Given the description of an element on the screen output the (x, y) to click on. 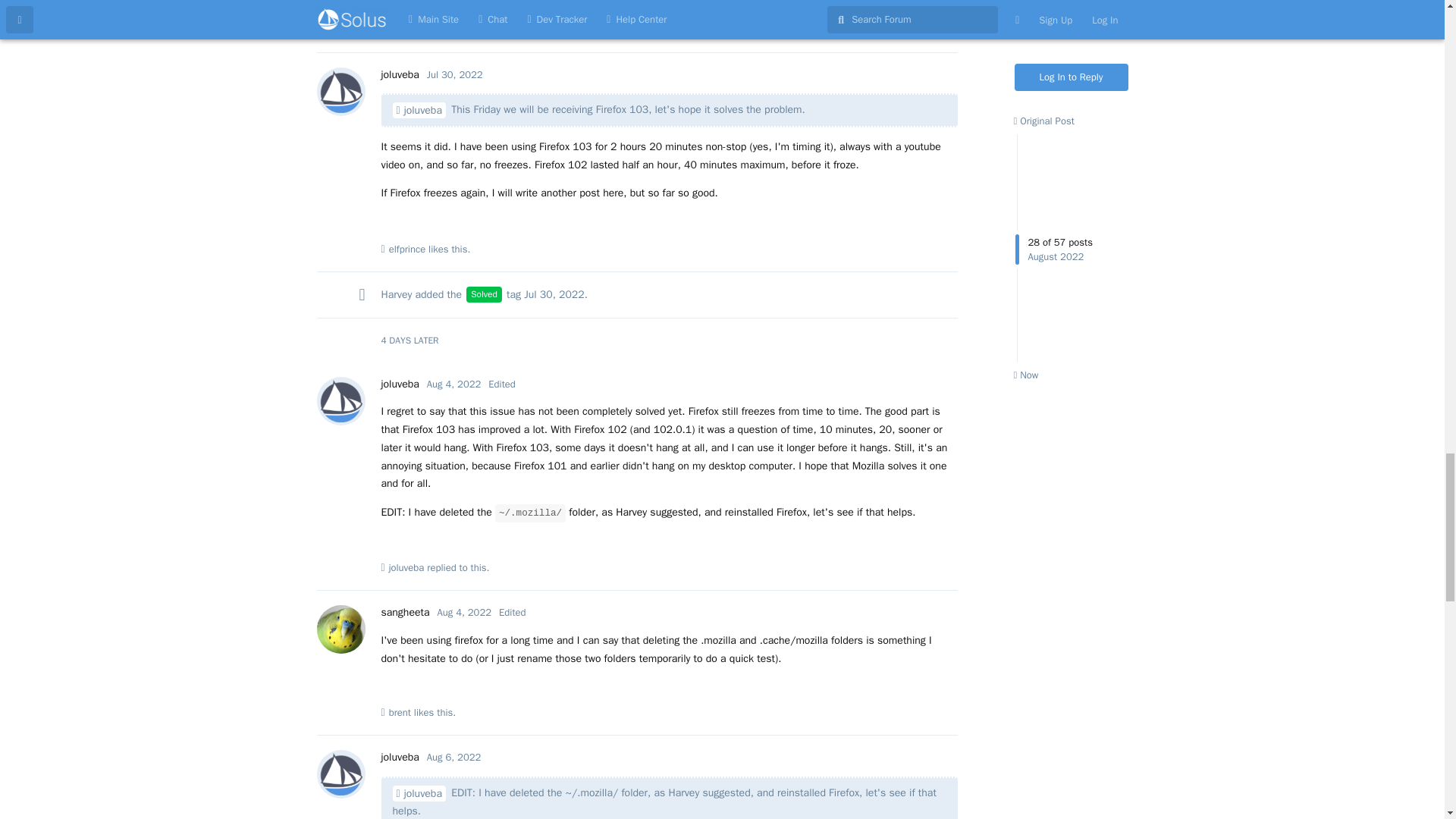
Saturday, July 30, 2022 8:08 PM (454, 74)
